Given the description of an element on the screen output the (x, y) to click on. 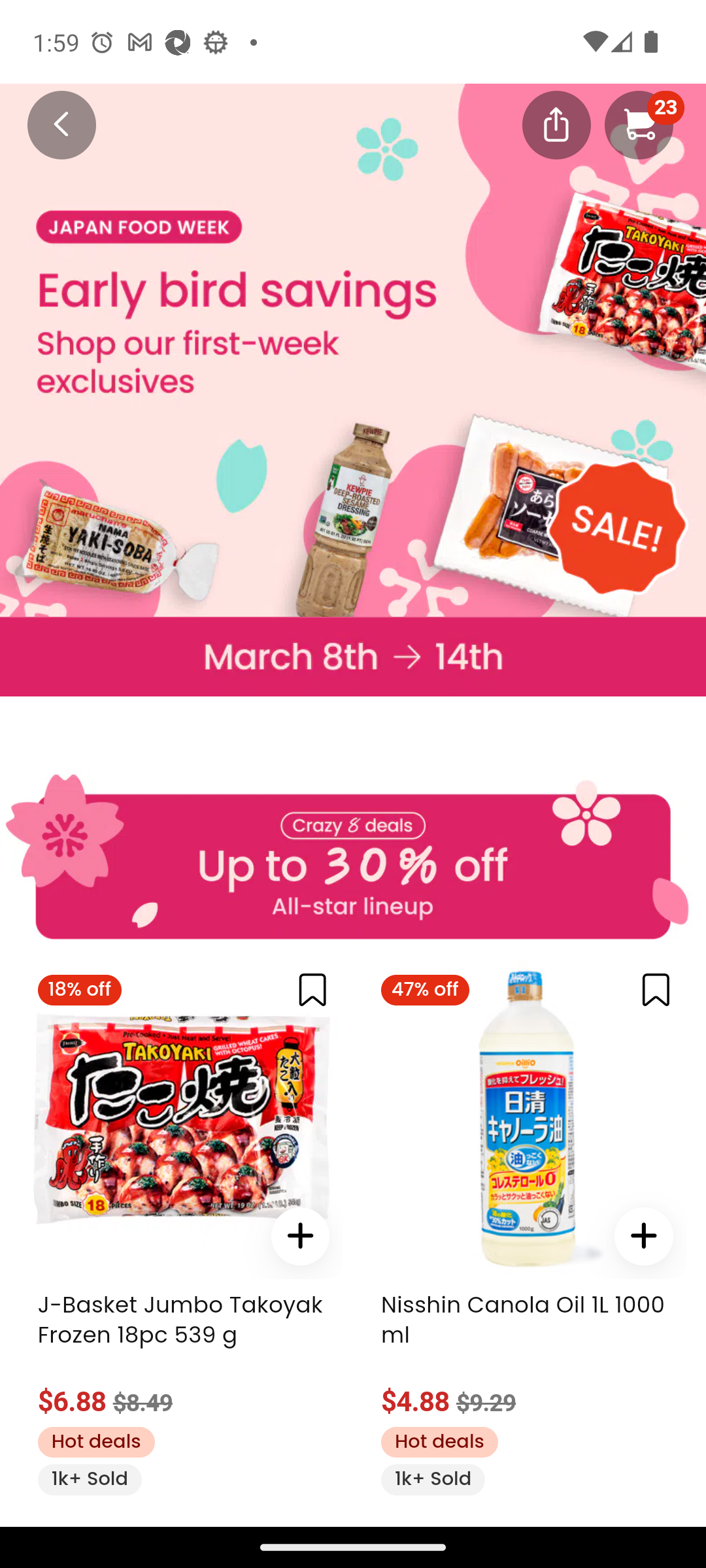
Banner 6F049F9321808E5F.png!c984x0_q80_t1 (353, 349)
Weee! - Groceries Delivered (50, 123)
23 My cart (638, 124)
 (555, 123)
61ADAA04FEB068CE.png!c984x0_q80_t1 (353, 655)
5CDDFCCF3B795B2.png!c984x0_q80_t1 (353, 847)
 (311, 990)
 (656, 990)
 (300, 1235)
 (643, 1235)
Hot deals (95, 1440)
Hot deals (439, 1440)
